Given the description of an element on the screen output the (x, y) to click on. 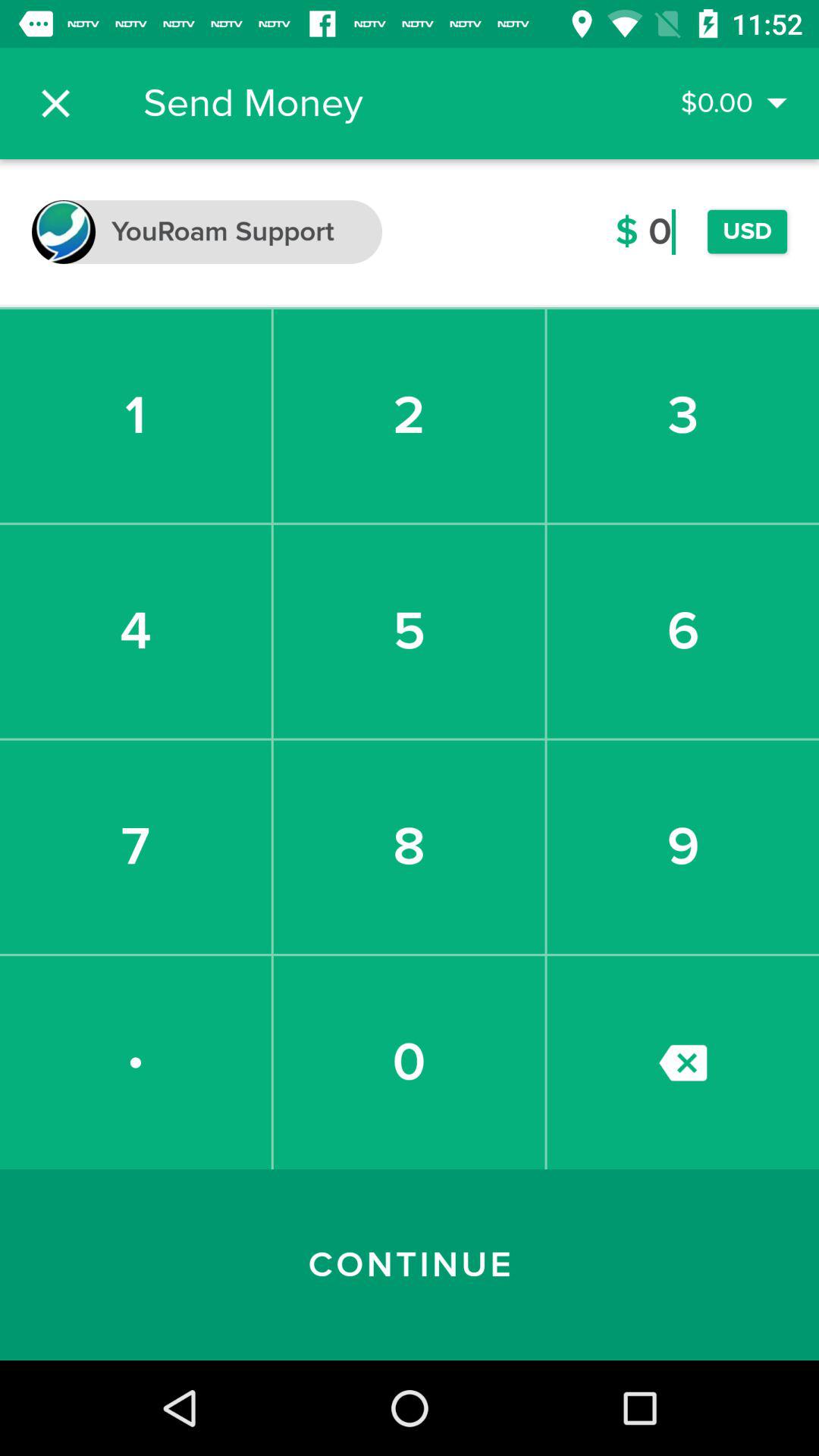
open 5 item (408, 631)
